Given the description of an element on the screen output the (x, y) to click on. 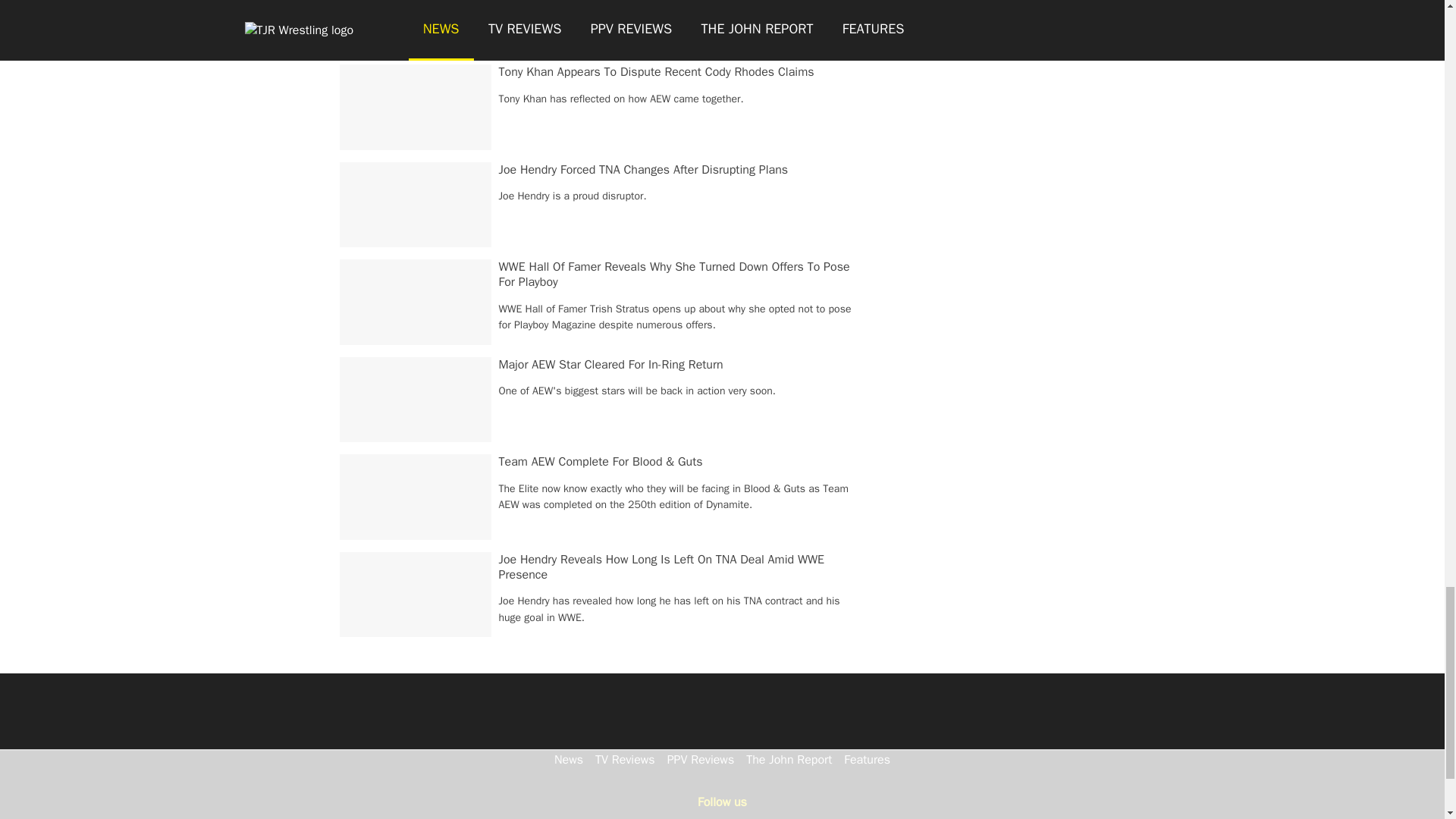
Tony Khan Appears To Dispute Recent Cody Rhodes Claims (656, 71)
Major AEW Star Cleared For In-Ring Return (611, 364)
Joe Hendry Forced TNA Changes After Disrupting Plans (644, 169)
